Given the description of an element on the screen output the (x, y) to click on. 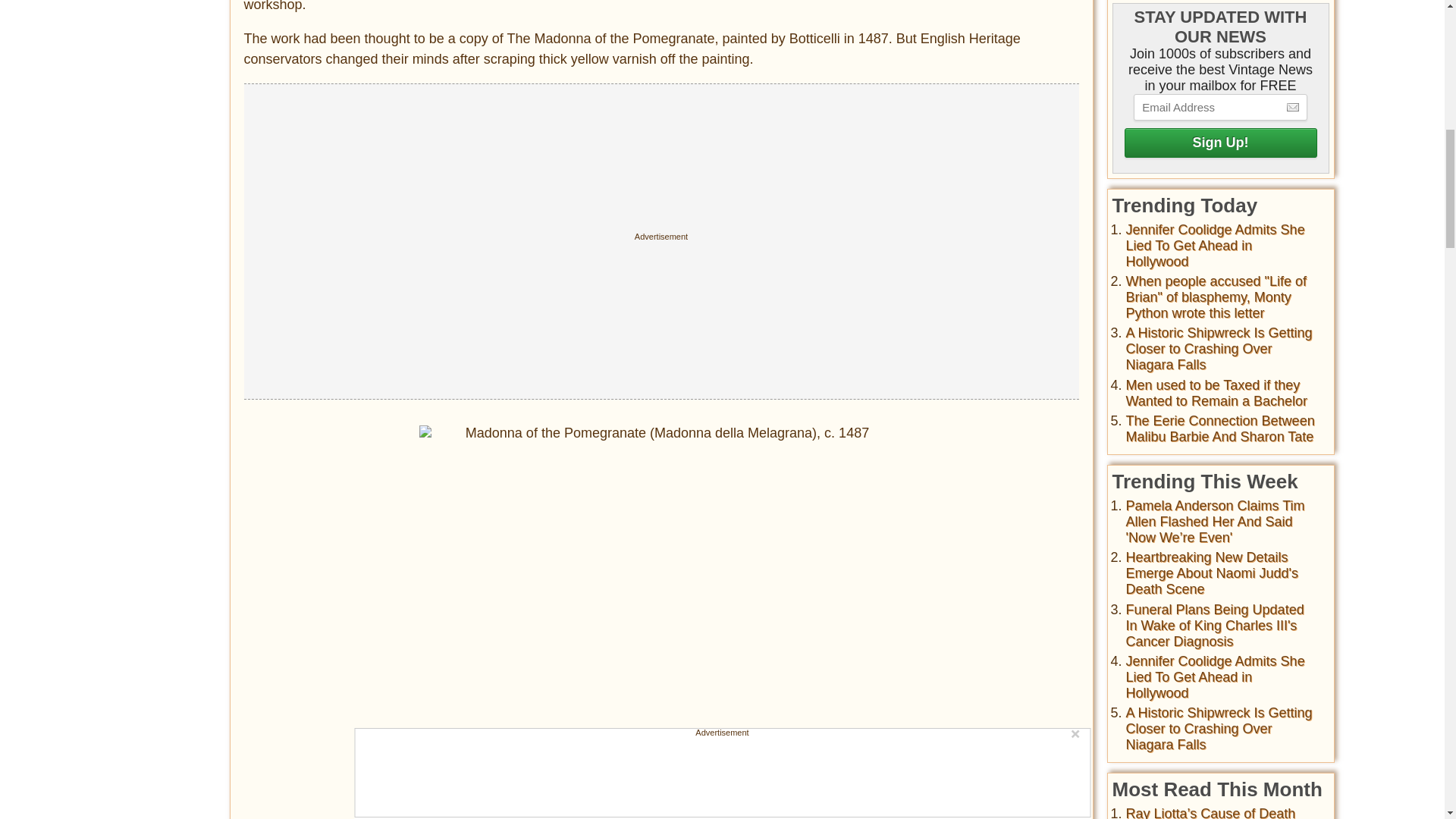
Sign Up! (1220, 142)
